Given the description of an element on the screen output the (x, y) to click on. 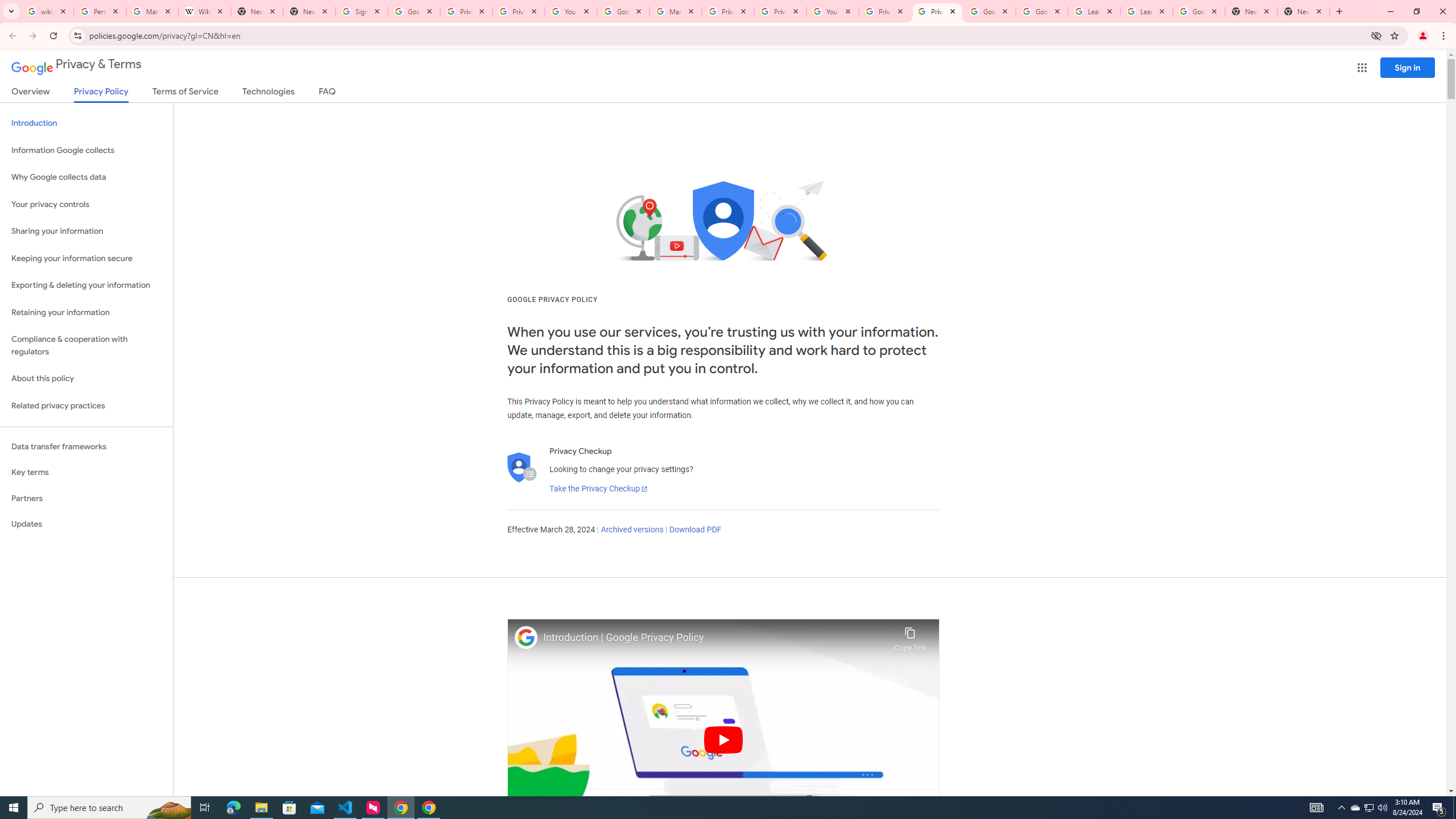
Google Drive: Sign-in (413, 11)
Related privacy practices (86, 405)
Take the Privacy Checkup (597, 488)
